Given the description of an element on the screen output the (x, y) to click on. 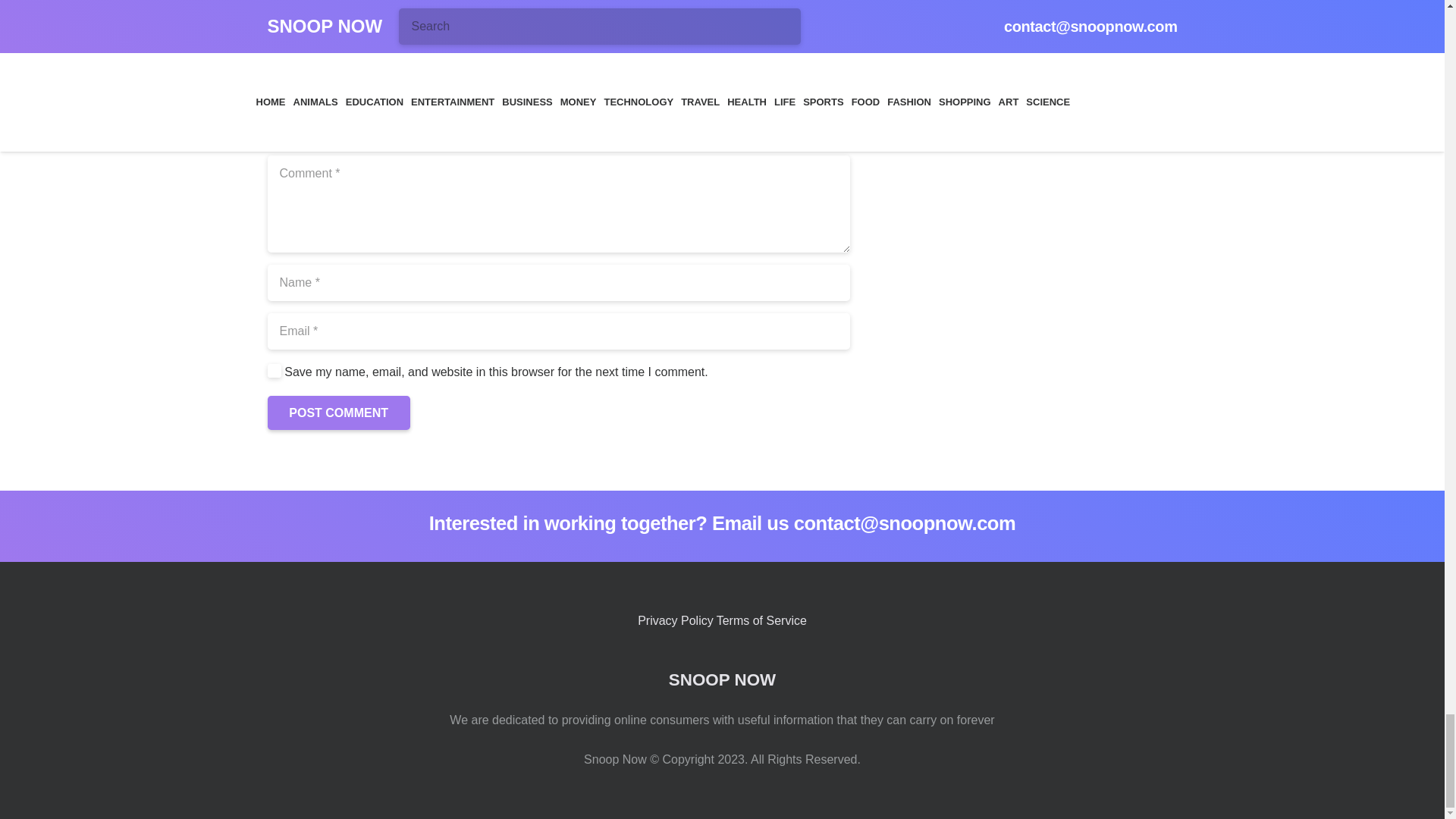
1 (273, 370)
